Given the description of an element on the screen output the (x, y) to click on. 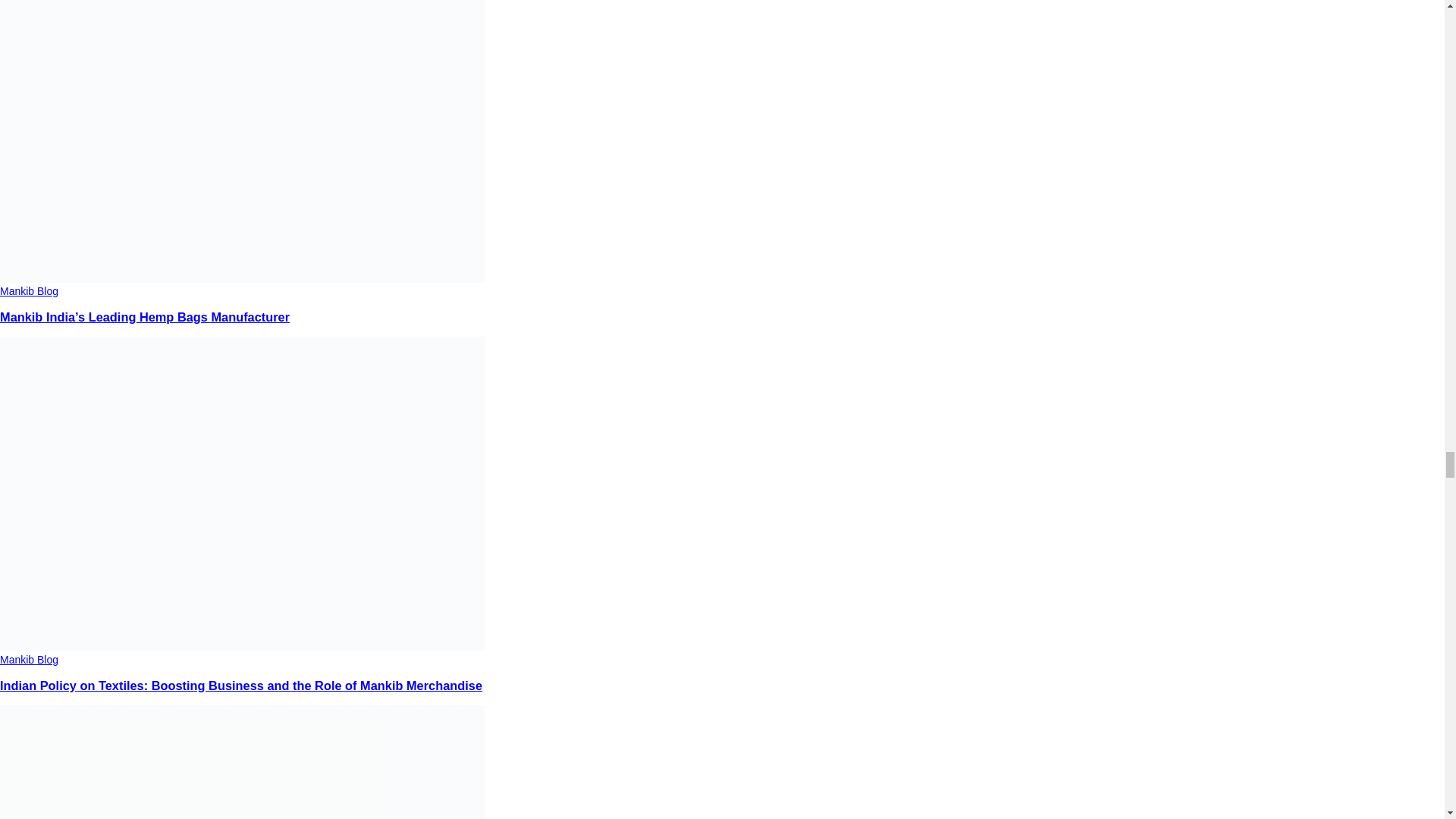
Mankib Blog (29, 291)
Mankib Blog (29, 659)
